Given the description of an element on the screen output the (x, y) to click on. 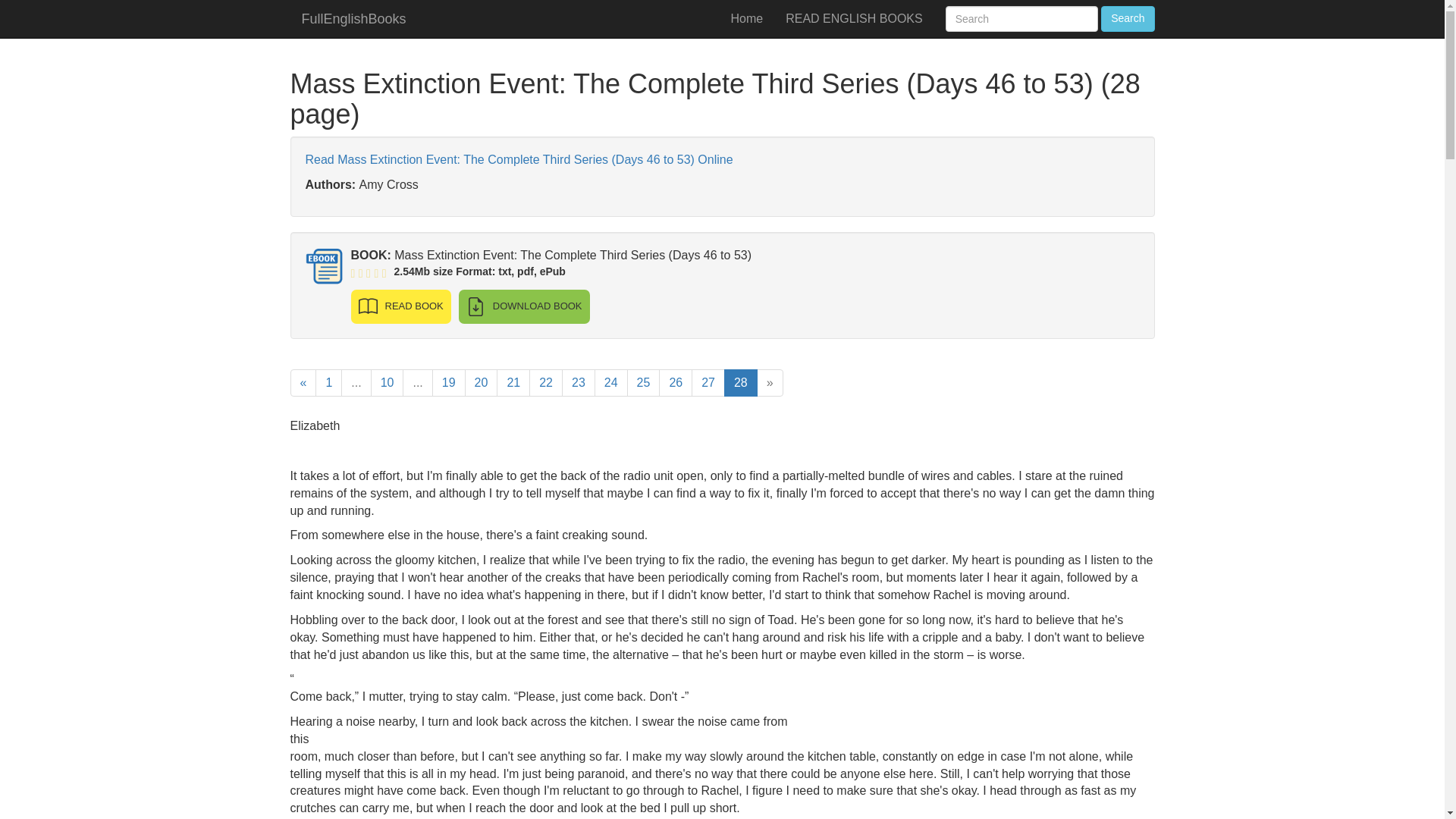
19 (448, 383)
24 (610, 383)
FullEnglishBooks (352, 18)
28 (740, 383)
READ BOOK (399, 306)
25 (644, 383)
20 (480, 383)
23 (578, 383)
Home (746, 18)
21 (512, 383)
1 (328, 383)
27 (708, 383)
22 (545, 383)
READ ENGLISH BOOKS (854, 18)
26 (676, 383)
